Given the description of an element on the screen output the (x, y) to click on. 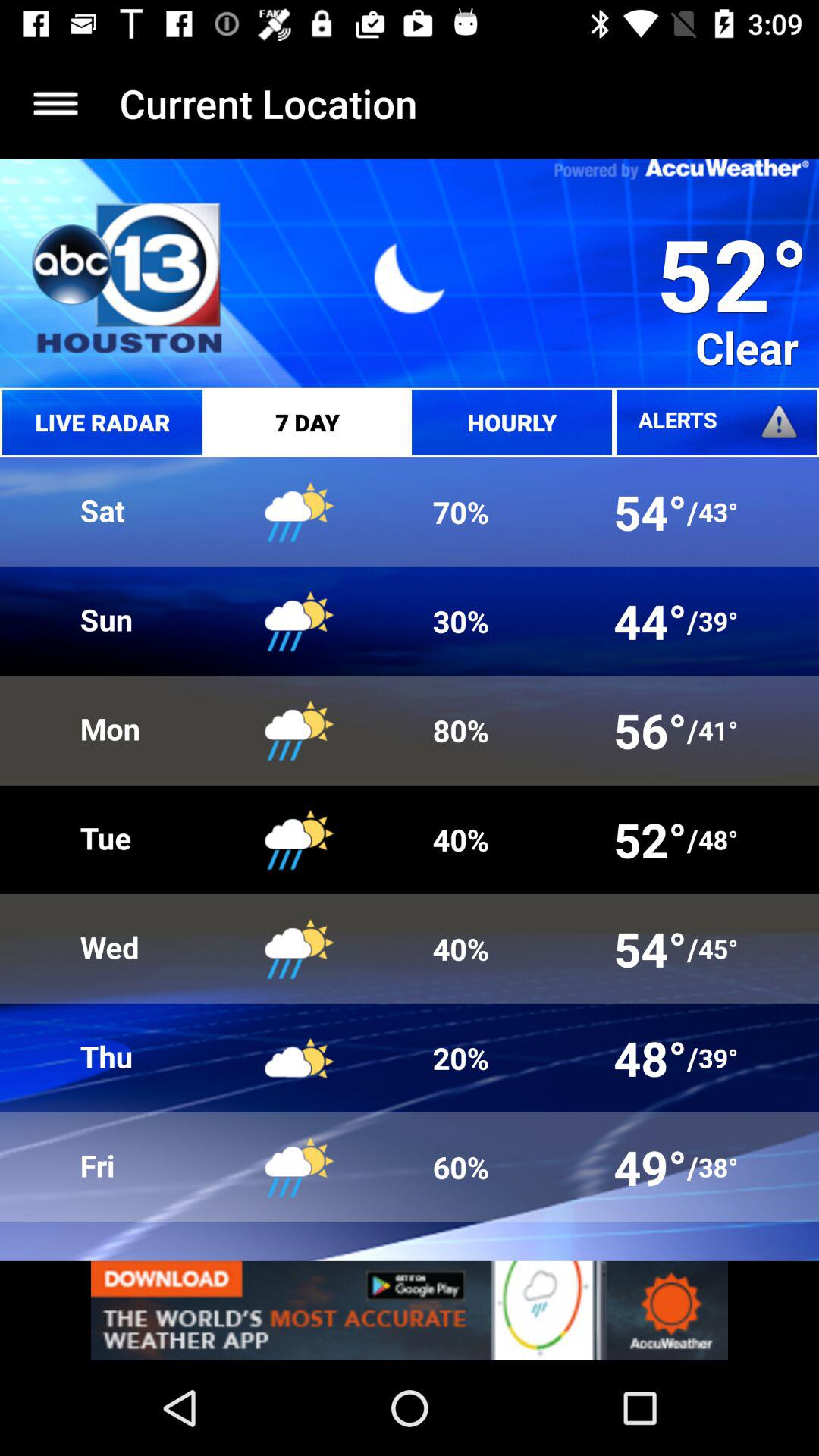
expand menu (55, 103)
